Given the description of an element on the screen output the (x, y) to click on. 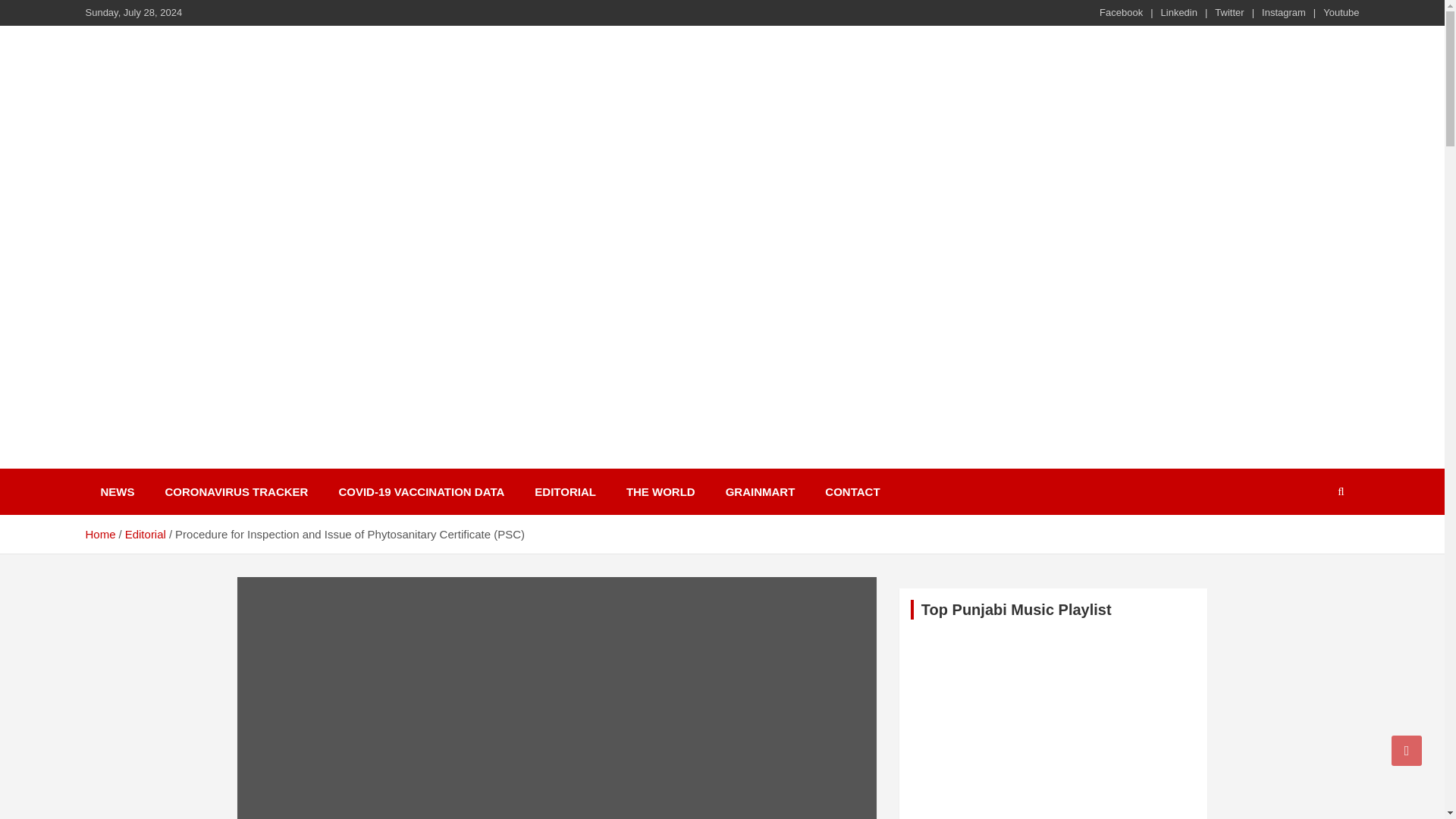
CORONAVIRUS TRACKER (236, 491)
Editorial (145, 533)
CONTACT (852, 491)
Facebook (1120, 12)
Grainmart News (200, 465)
COVID-19 VACCINATION DATA (421, 491)
Home (99, 533)
GRAINMART (760, 491)
EDITORIAL (565, 491)
THE WORLD (660, 491)
NEWS (116, 491)
Linkedin (1178, 12)
Instagram (1284, 12)
Youtube (1340, 12)
Go to Top (1406, 750)
